Given the description of an element on the screen output the (x, y) to click on. 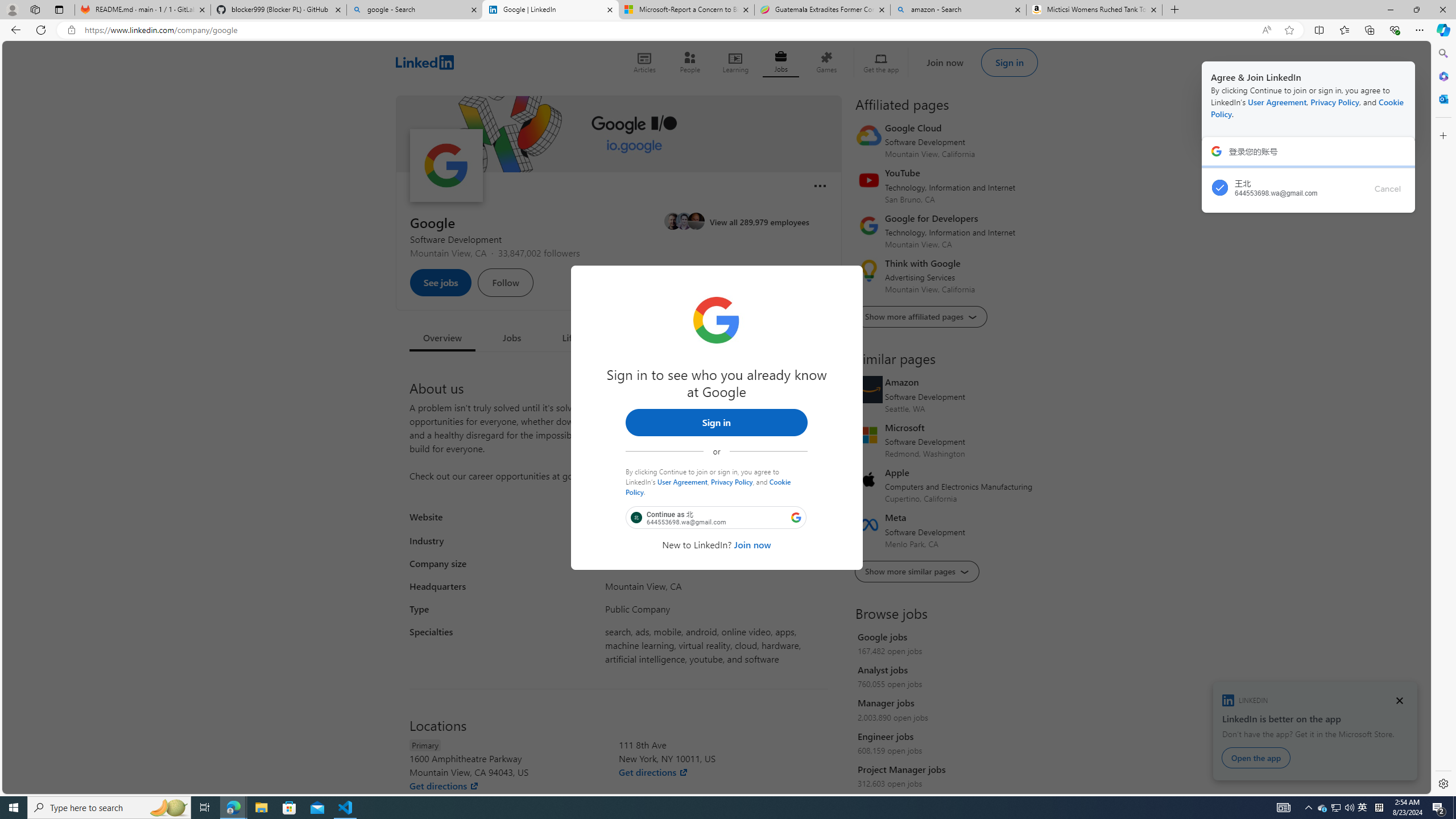
User Agreement (681, 481)
